Given the description of an element on the screen output the (x, y) to click on. 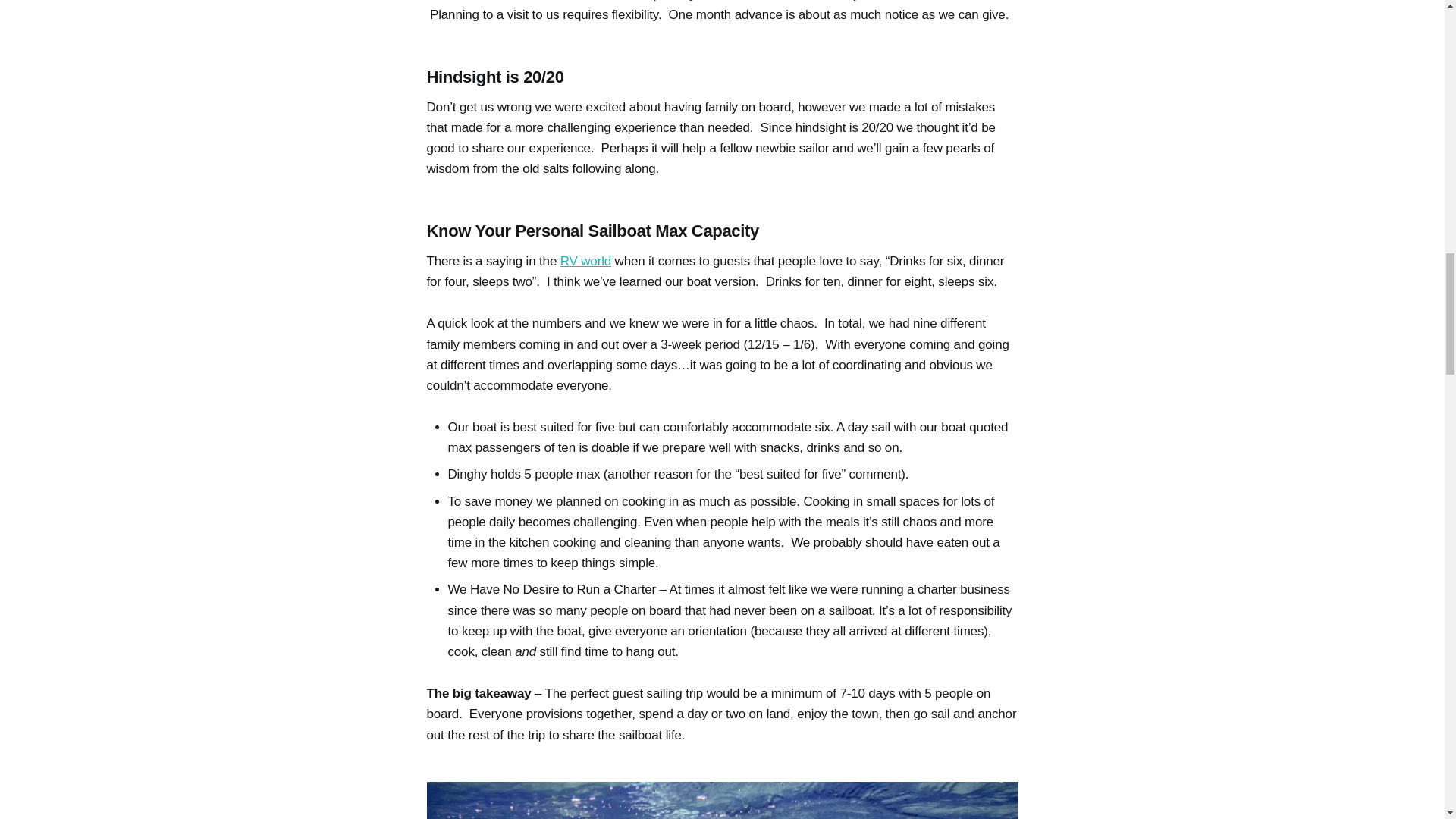
RV world (585, 260)
